Given the description of an element on the screen output the (x, y) to click on. 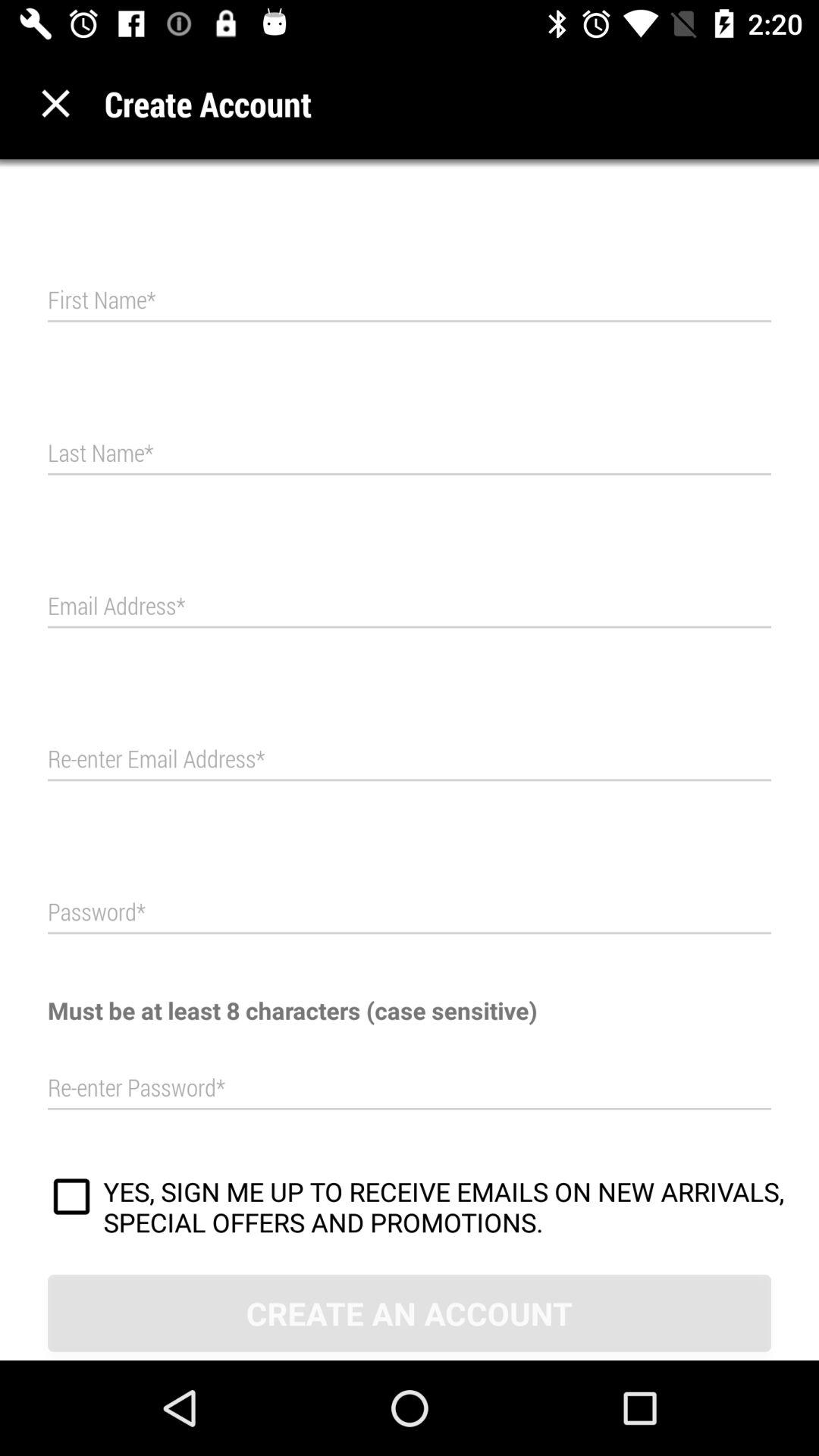
click on create an account (409, 1311)
click on the reenter password  field (409, 1088)
click on the first  name field (409, 300)
click on cross symbol beside  create account (55, 103)
click on text field of email address (409, 606)
